Given the description of an element on the screen output the (x, y) to click on. 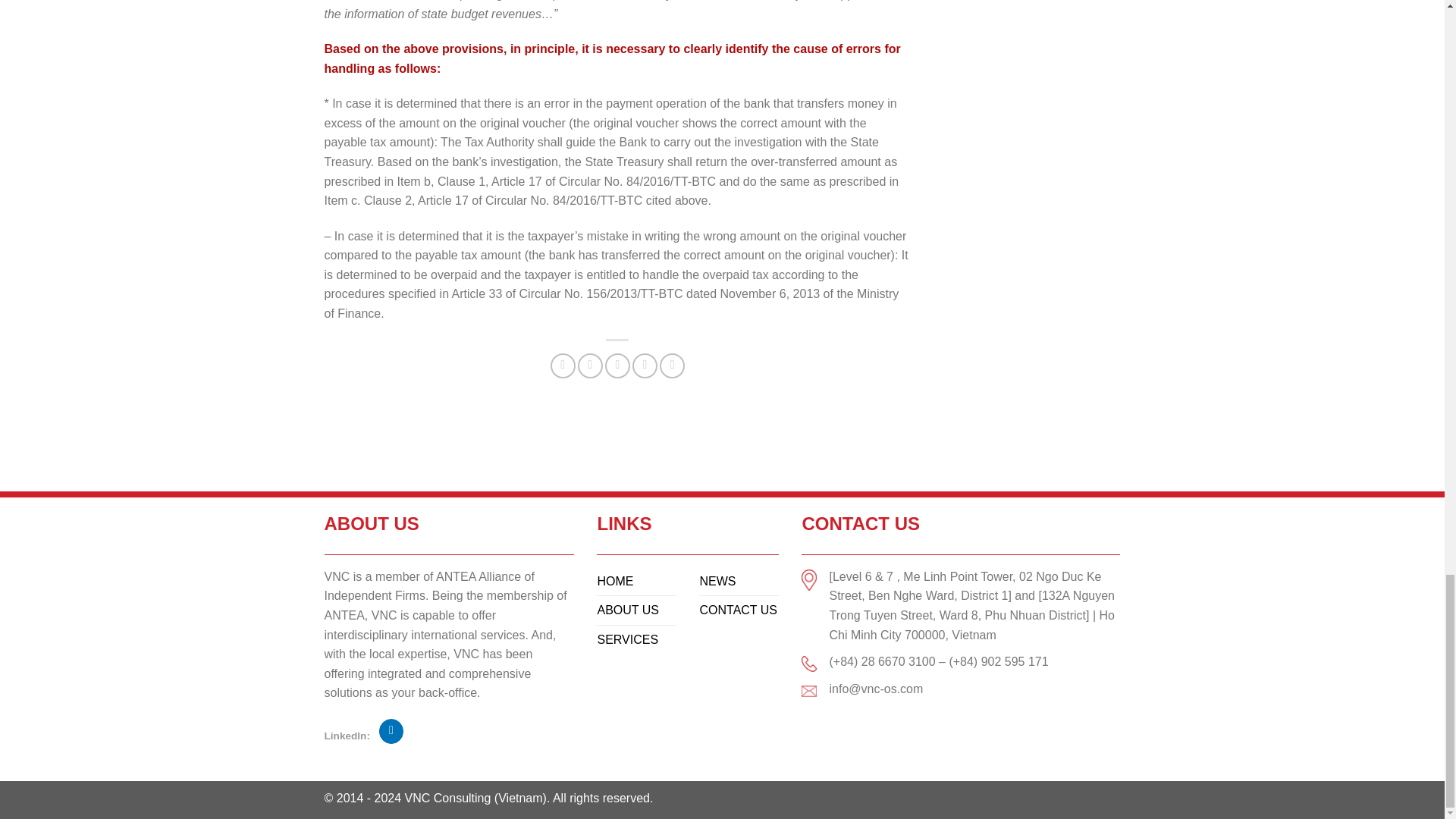
CONTACT US (737, 609)
Follow on LinkedIn (391, 731)
Share on Facebook (562, 365)
Pin on Pinterest (644, 365)
ABOUT US (627, 609)
NEWS (716, 581)
Share on LinkedIn (671, 365)
SERVICES (627, 639)
HOME (614, 581)
Share on Twitter (590, 365)
